Given the description of an element on the screen output the (x, y) to click on. 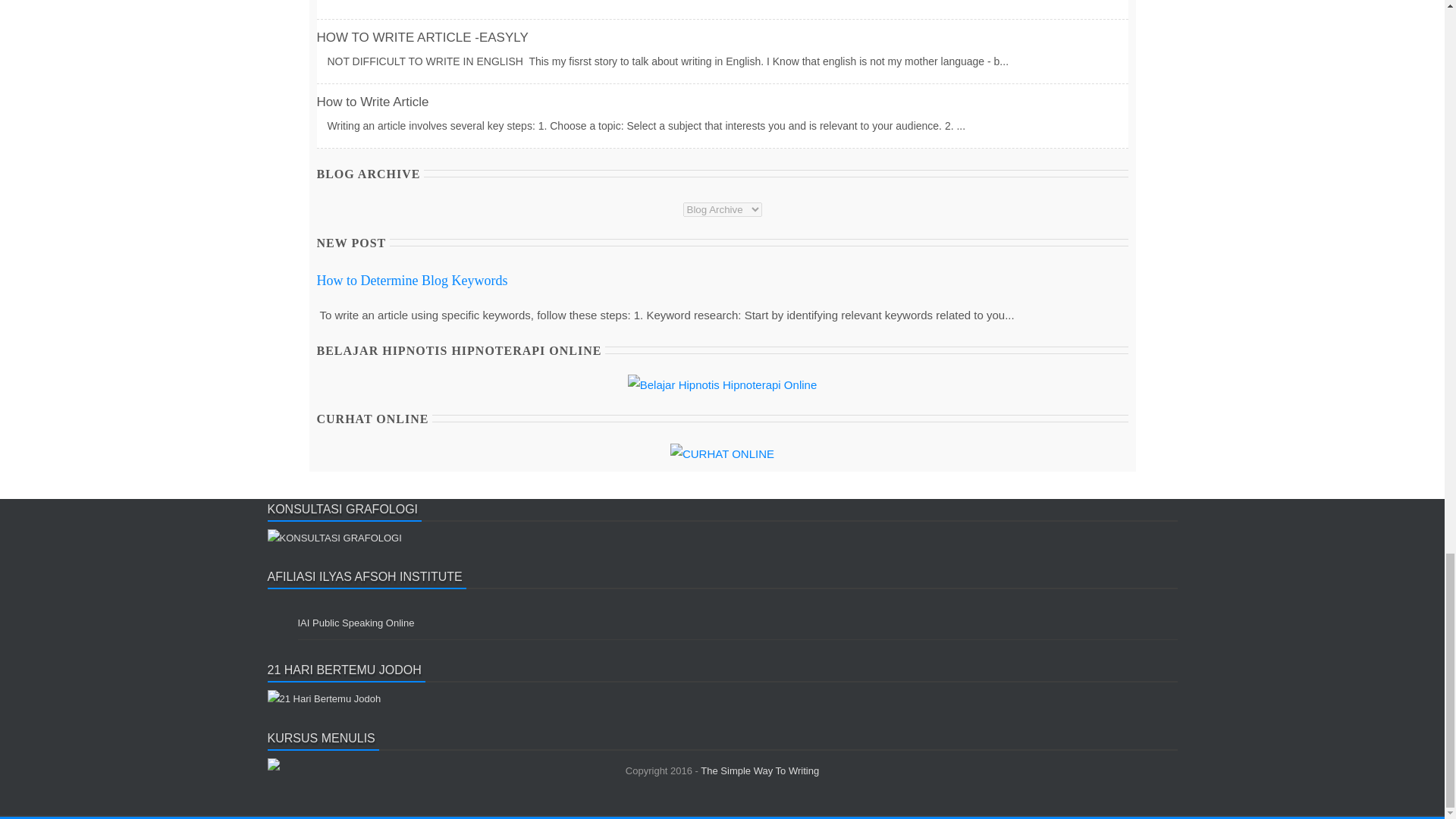
HOW TO WRITE ARTICLE -EASYLY (422, 37)
How to Determine Blog Keywords (412, 280)
How to Write Article (373, 101)
